Given the description of an element on the screen output the (x, y) to click on. 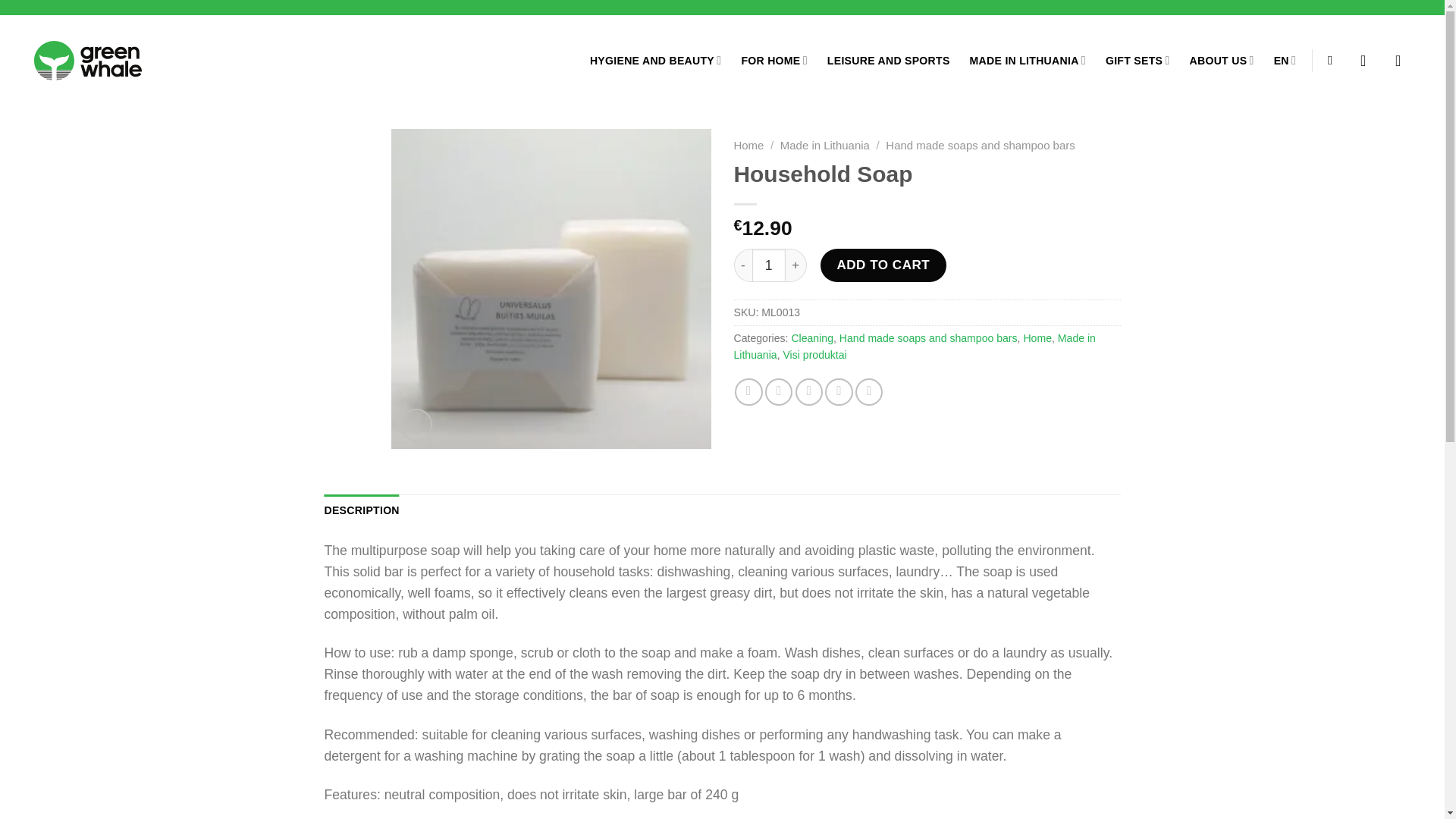
Email to a Friend (808, 391)
Made in Lithuania (824, 144)
Share on Twitter (778, 391)
Zoom (416, 424)
ABOUT US (1221, 60)
LEISURE AND SPORTS (888, 60)
Home (748, 144)
Share on Facebook (748, 391)
MADE IN LITHUANIA (1027, 60)
Share on LinkedIn (869, 391)
FOR HOME (773, 60)
HYGIENE AND BEAUTY (654, 60)
GIFT SETS (1137, 60)
Pin on Pinterest (838, 391)
